Given the description of an element on the screen output the (x, y) to click on. 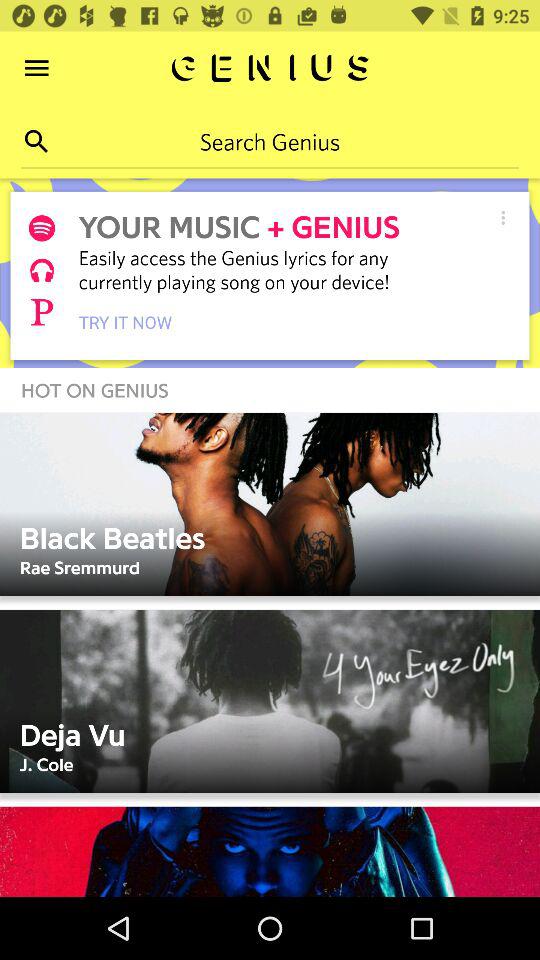
search genius for specific song 's lyrics (270, 141)
